Given the description of an element on the screen output the (x, y) to click on. 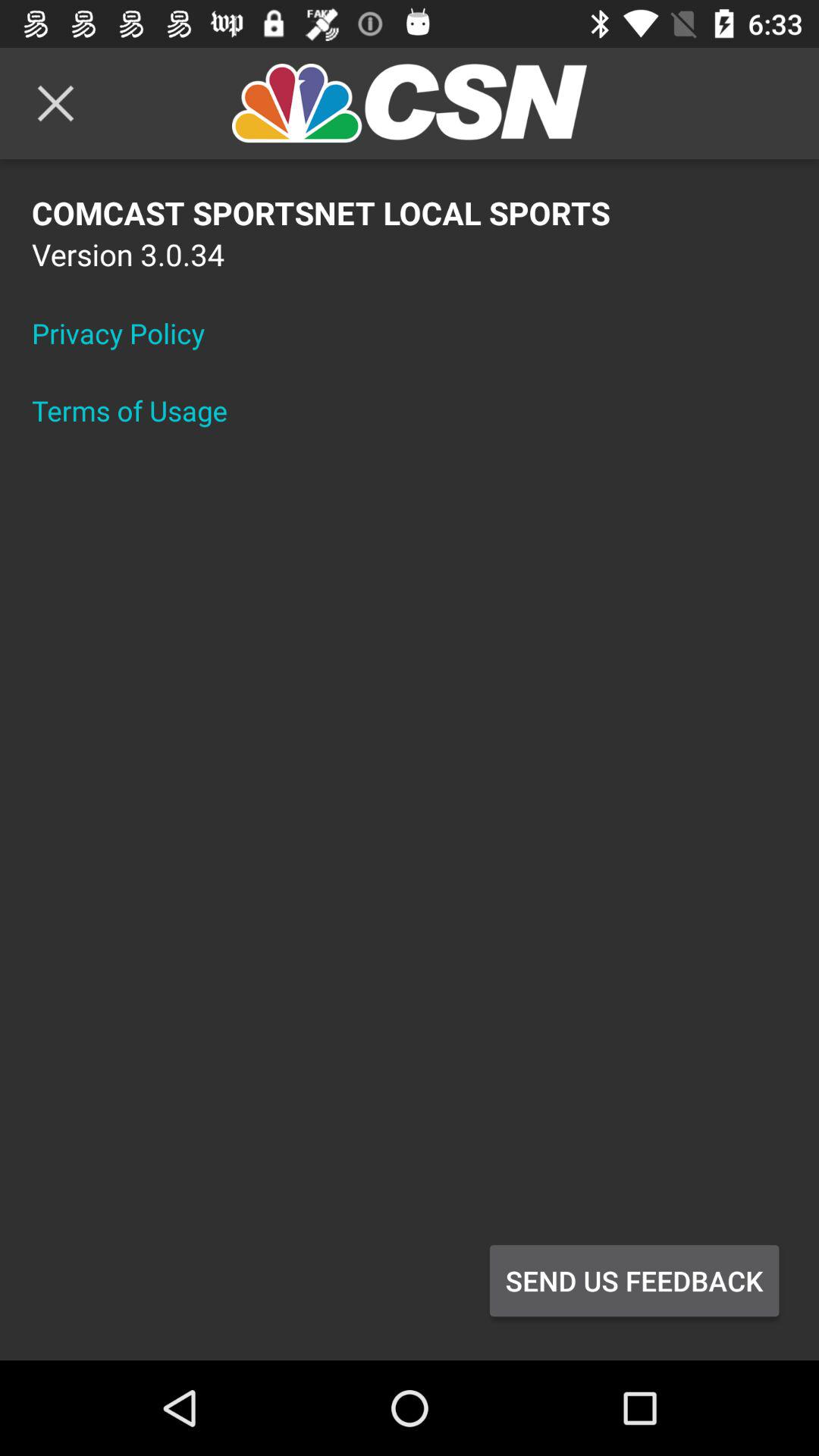
launch the icon below version 3 0 icon (127, 332)
